Given the description of an element on the screen output the (x, y) to click on. 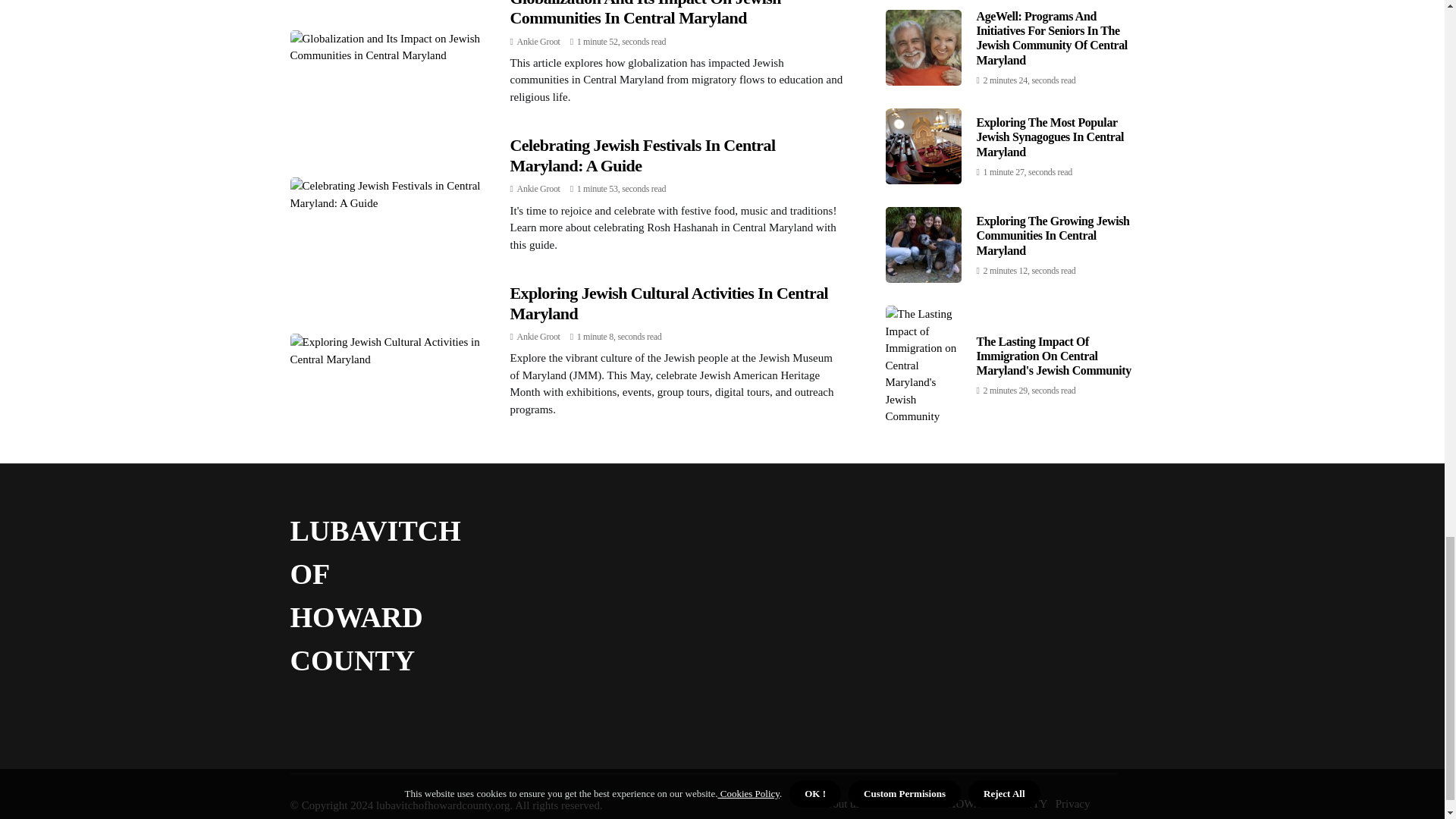
Ankie Groot (538, 336)
Posts by Ankie Groot (538, 41)
Celebrating Jewish Festivals In Central Maryland: A Guide (641, 154)
Ankie Groot (538, 188)
Exploring Jewish Cultural Activities In Central Maryland (668, 302)
Posts by Ankie Groot (538, 188)
Ankie Groot (538, 41)
Posts by Ankie Groot (538, 336)
